Given the description of an element on the screen output the (x, y) to click on. 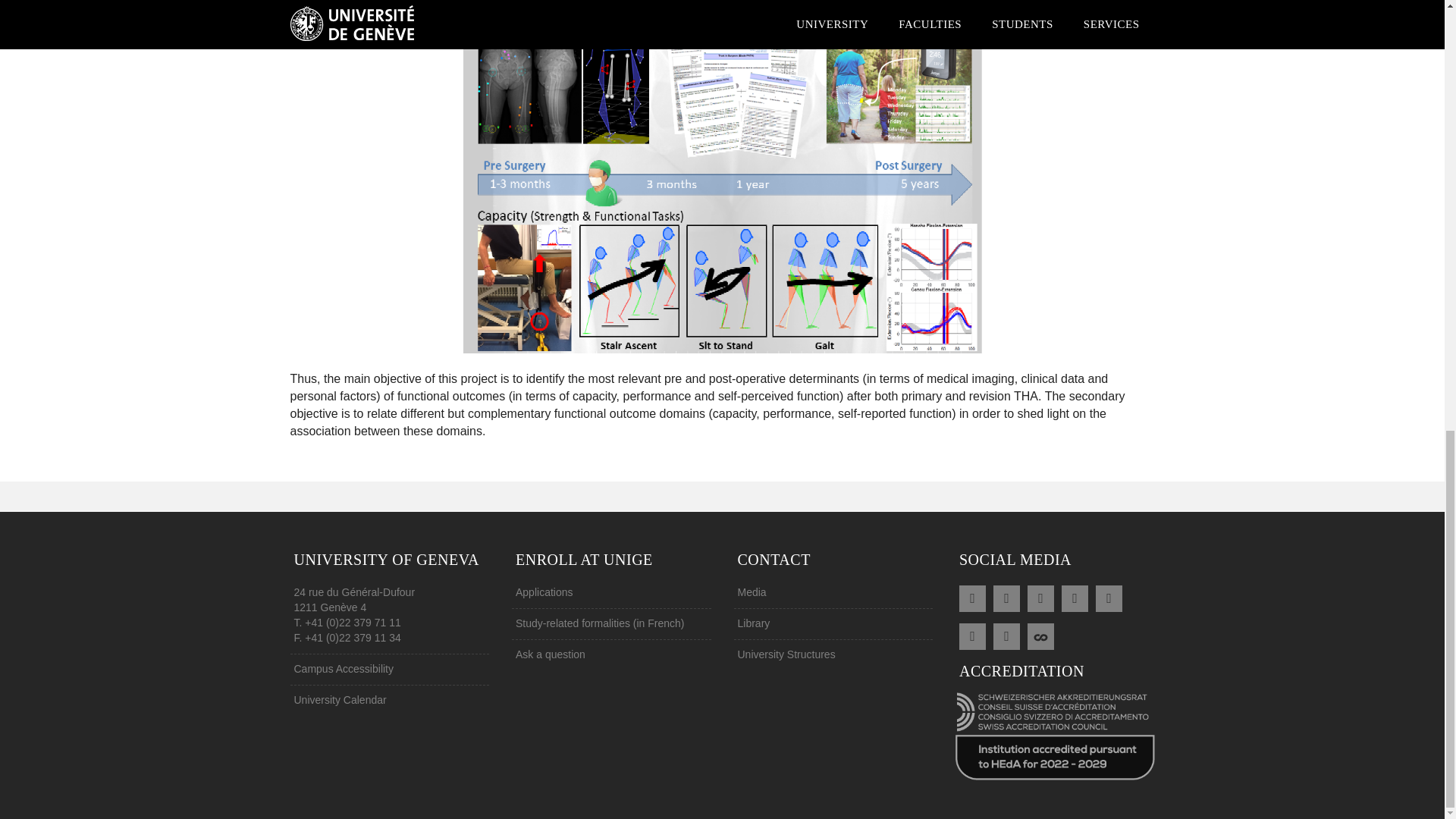
YouTube (1108, 596)
Coursera (1040, 634)
LinkedIn (1075, 596)
iTunesU (1006, 634)
RSS (972, 596)
Facebook (1006, 596)
Instagram (972, 634)
